Given the description of an element on the screen output the (x, y) to click on. 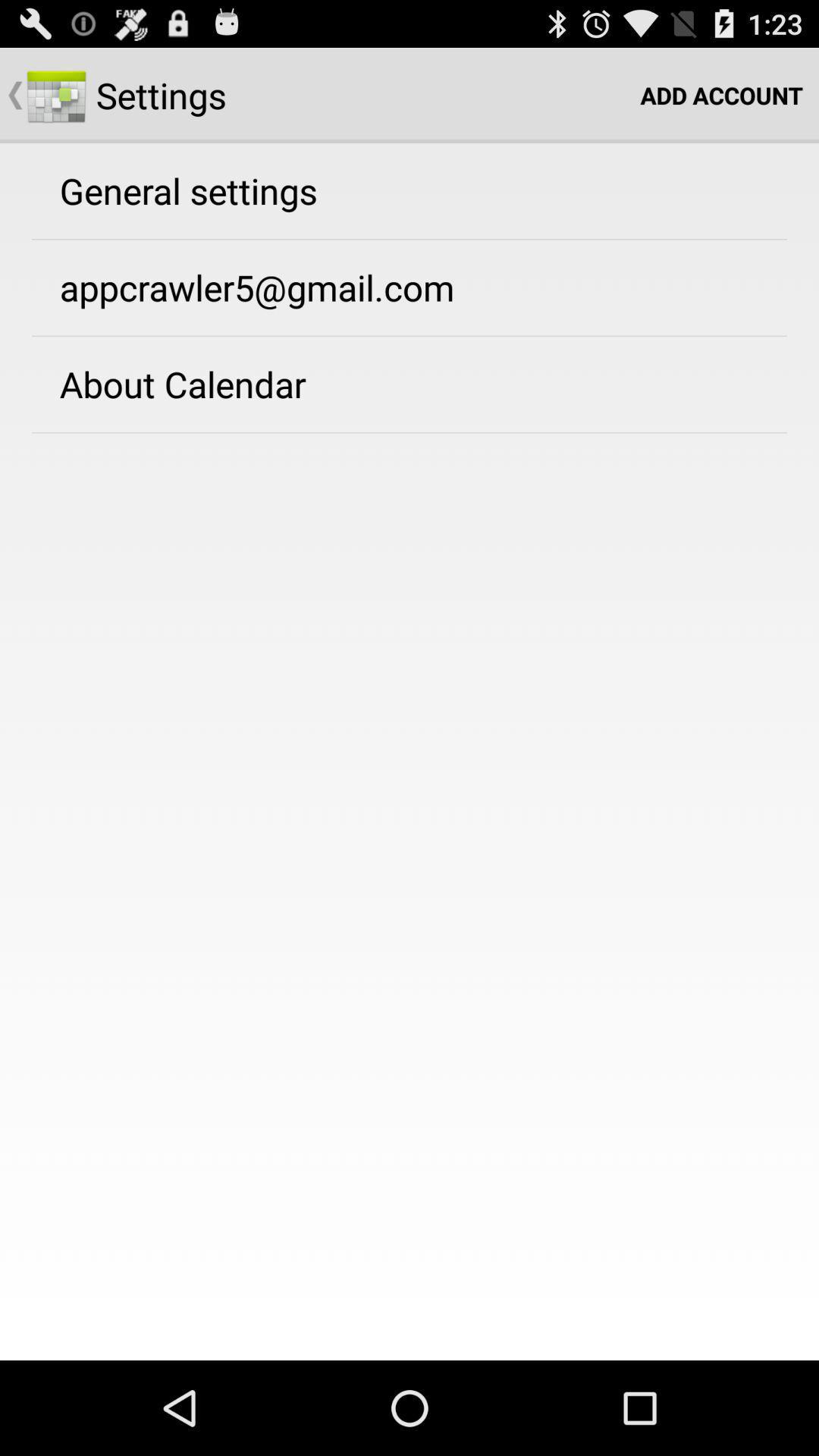
open item next to the settings item (721, 95)
